Given the description of an element on the screen output the (x, y) to click on. 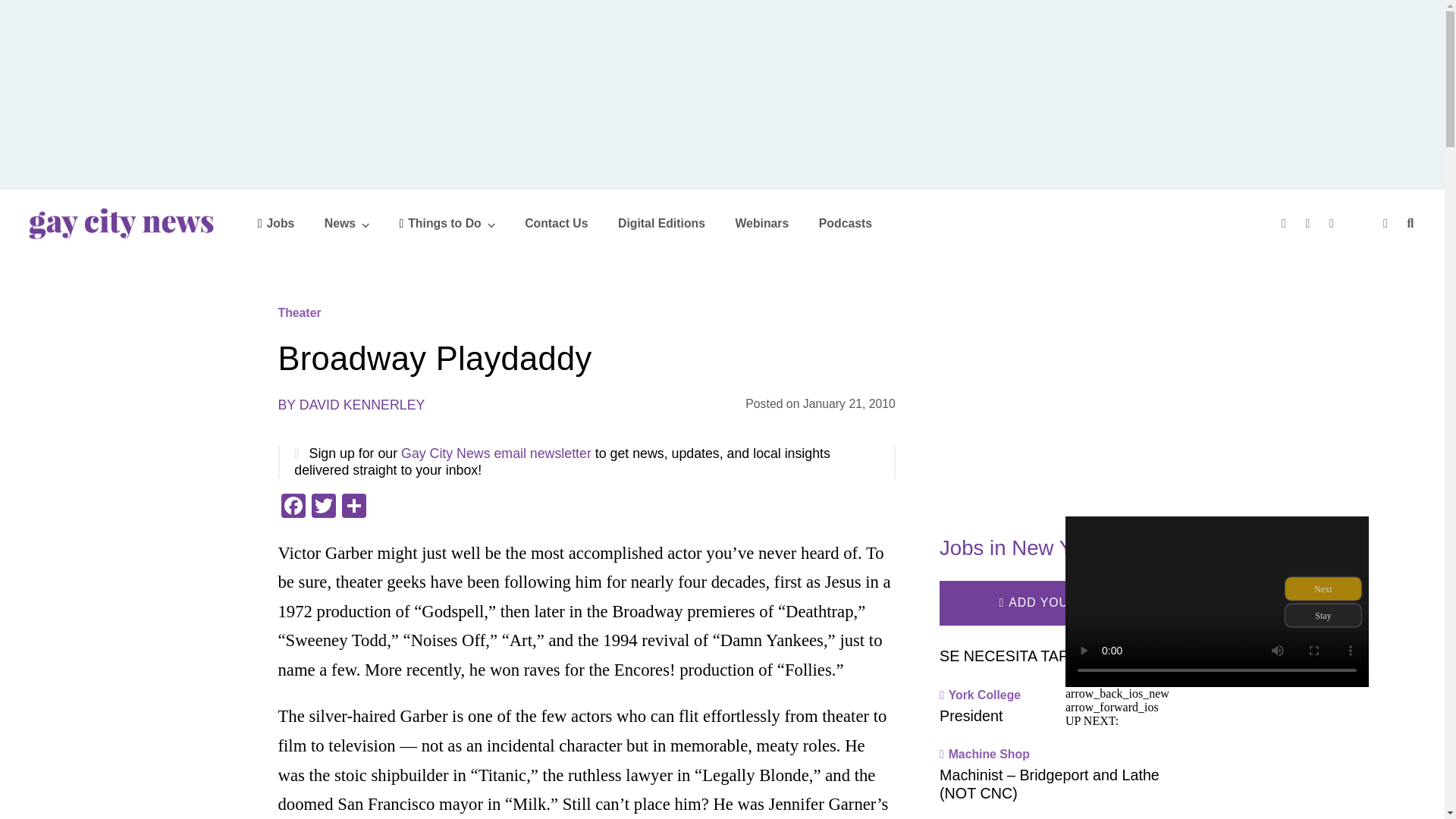
Jobs (276, 223)
Digital Editions (660, 223)
Things to Do (446, 223)
Facebook (292, 507)
Contact Us (556, 223)
Webinars (762, 223)
Podcasts (845, 223)
Twitter (322, 507)
News (346, 223)
